Given the description of an element on the screen output the (x, y) to click on. 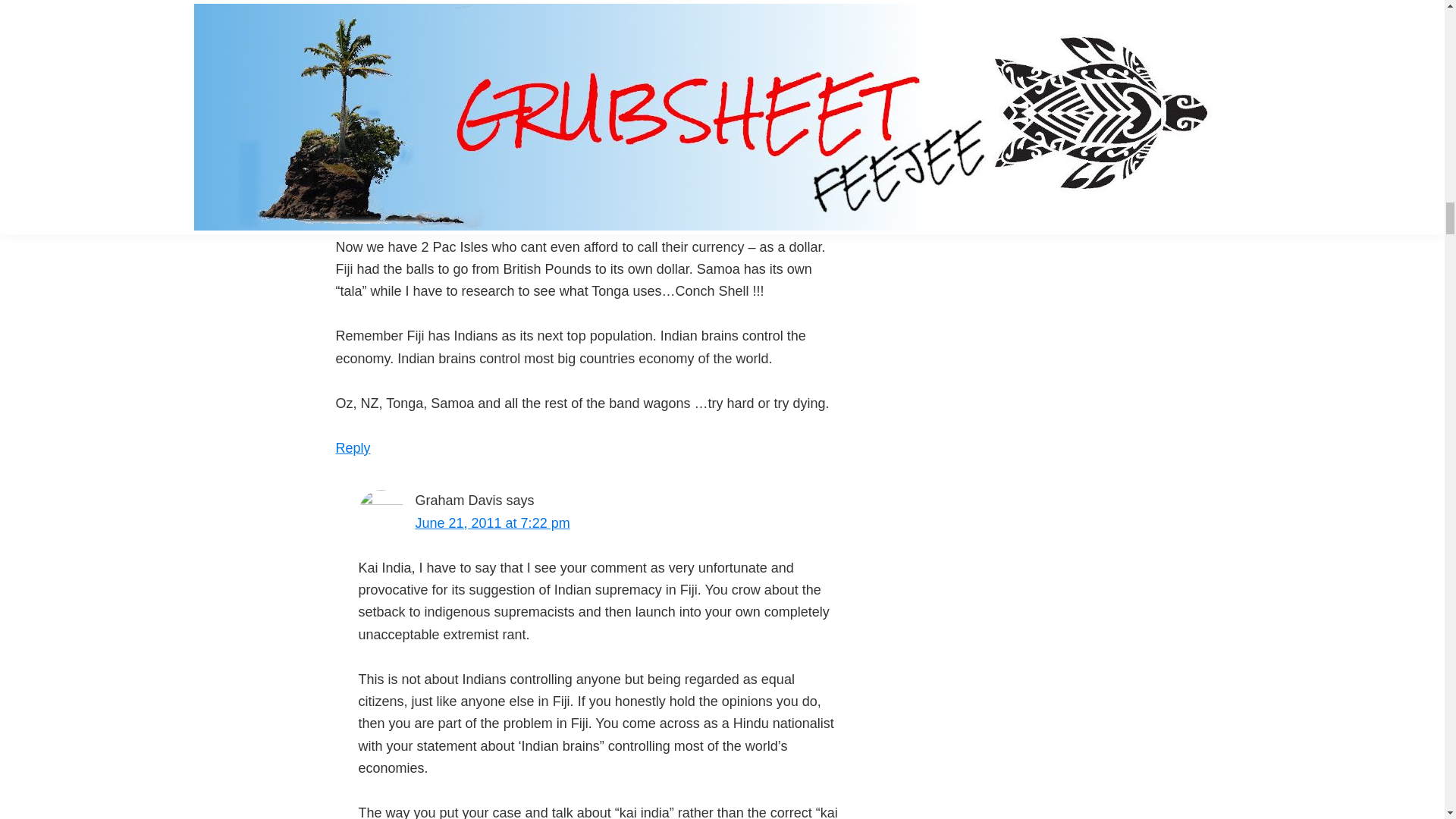
Reply (351, 447)
June 21, 2011 at 7:22 pm (492, 522)
